Given the description of an element on the screen output the (x, y) to click on. 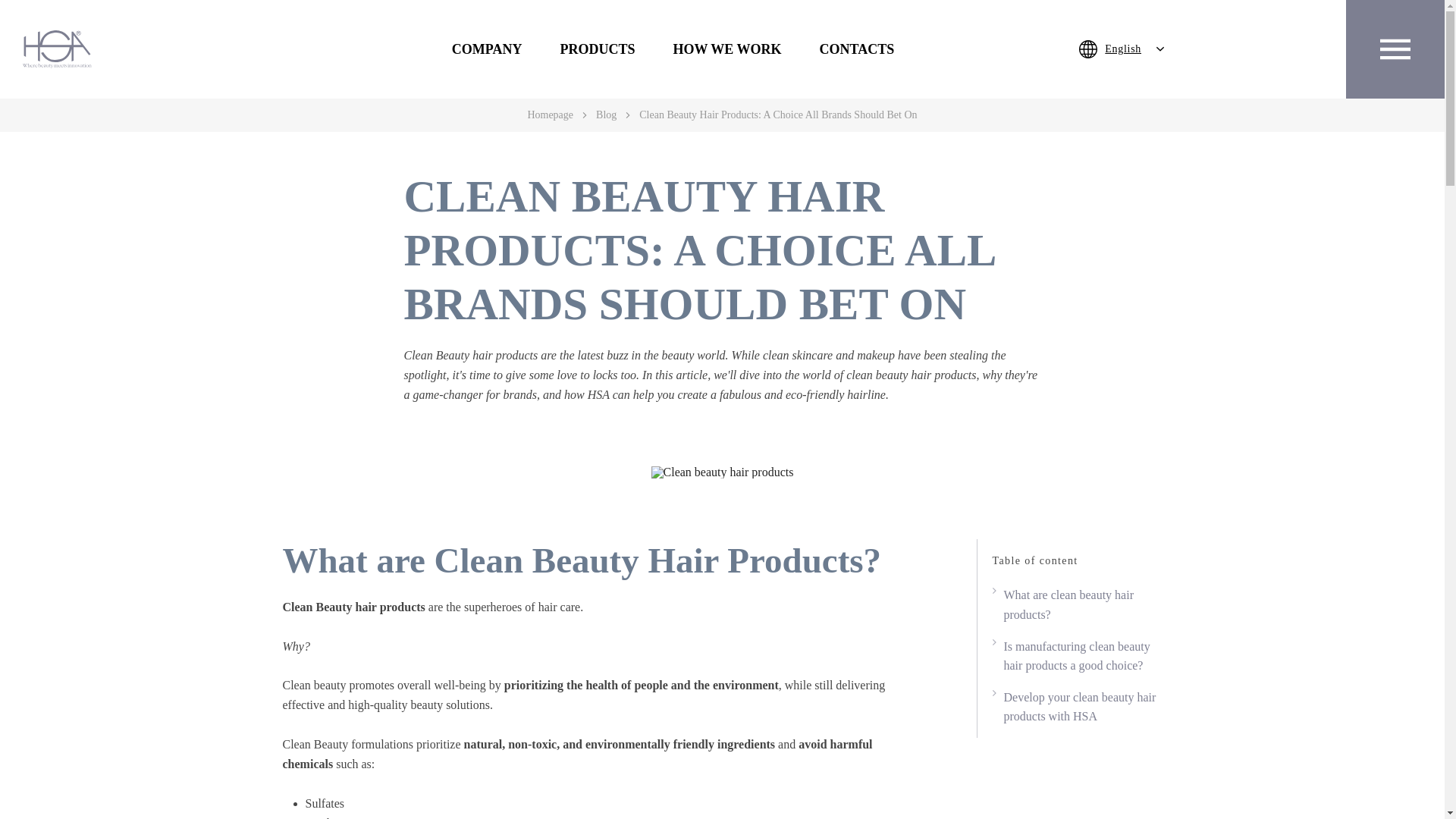
What are clean beauty hair products? (1074, 604)
Is manufacturing clean beauty hair products a good choice? (1074, 656)
CONTACTS (855, 49)
Develop your clean beauty hair products with HSA (1074, 706)
COMPANY (486, 49)
Blog (605, 114)
PRODUCTS (596, 49)
Homepage (550, 114)
HOW WE WORK (726, 49)
